Given the description of an element on the screen output the (x, y) to click on. 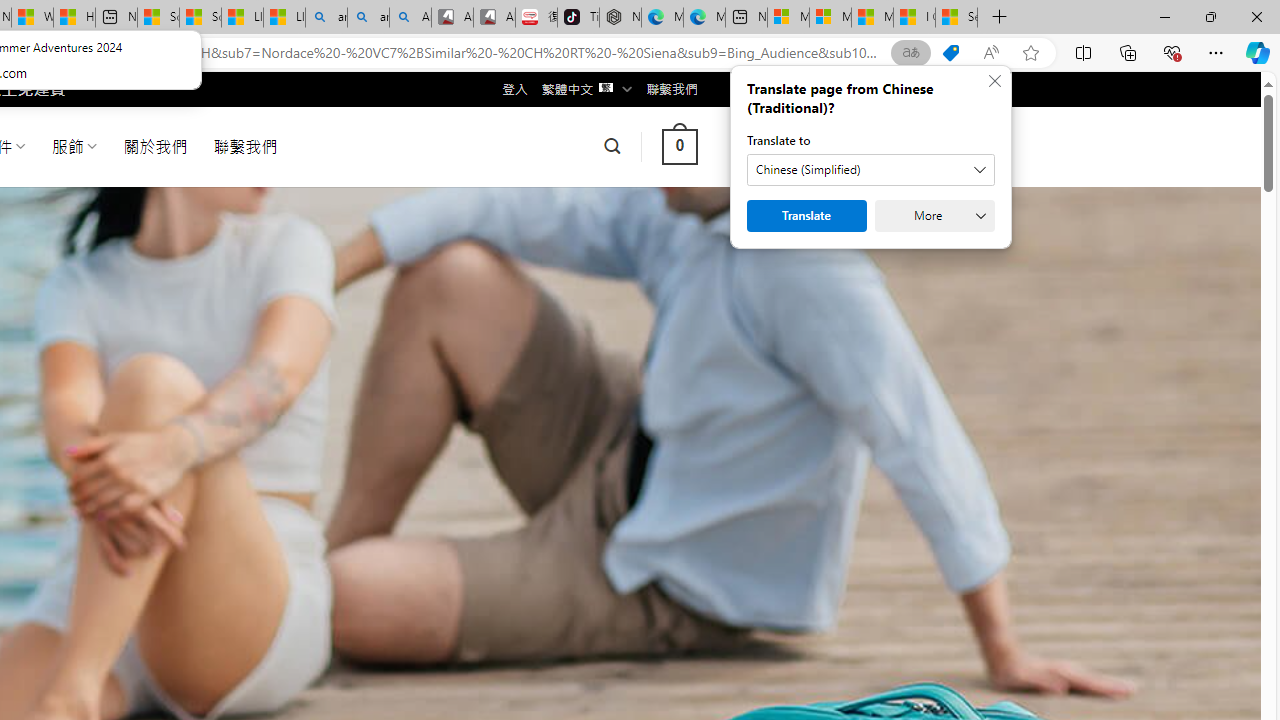
Translate (806, 215)
More (934, 215)
